Given the description of an element on the screen output the (x, y) to click on. 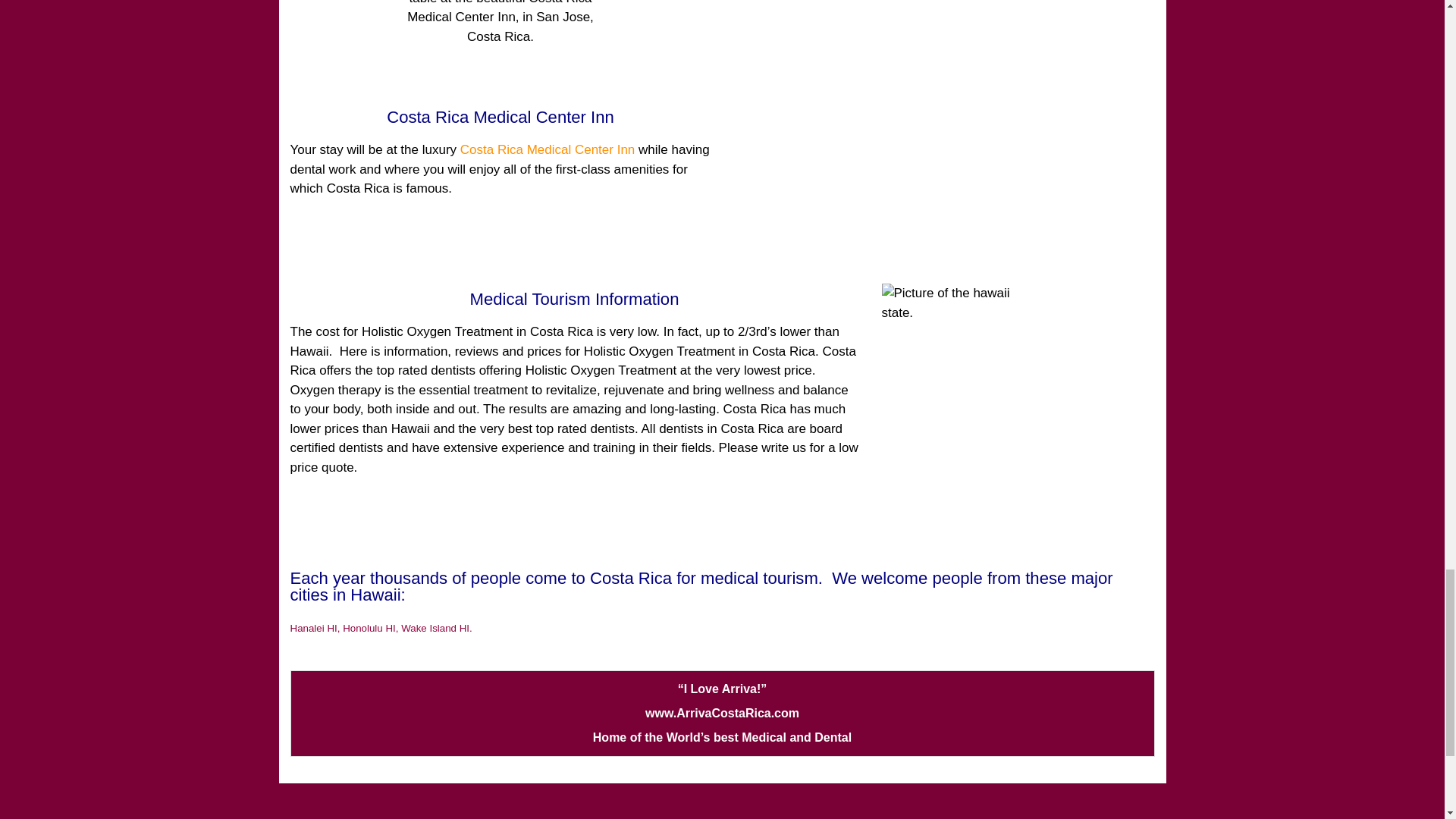
Costa Rica Medical Center Inn (547, 149)
restaurant-and-pool (500, 41)
junior-suite-bedroom (944, 94)
